Given the description of an element on the screen output the (x, y) to click on. 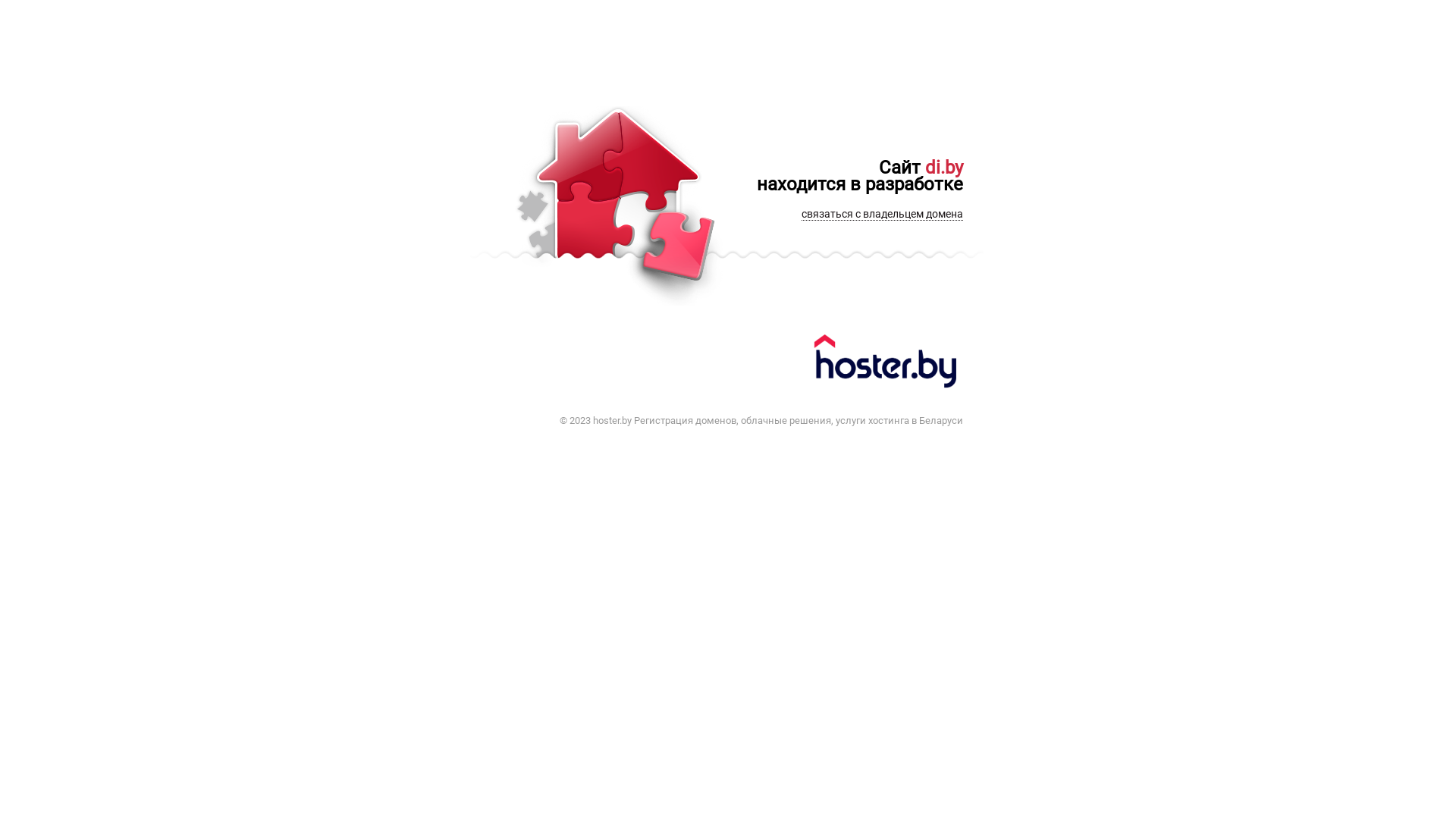
hoster.by Element type: hover (887, 363)
hoster.by Element type: text (612, 420)
